Given the description of an element on the screen output the (x, y) to click on. 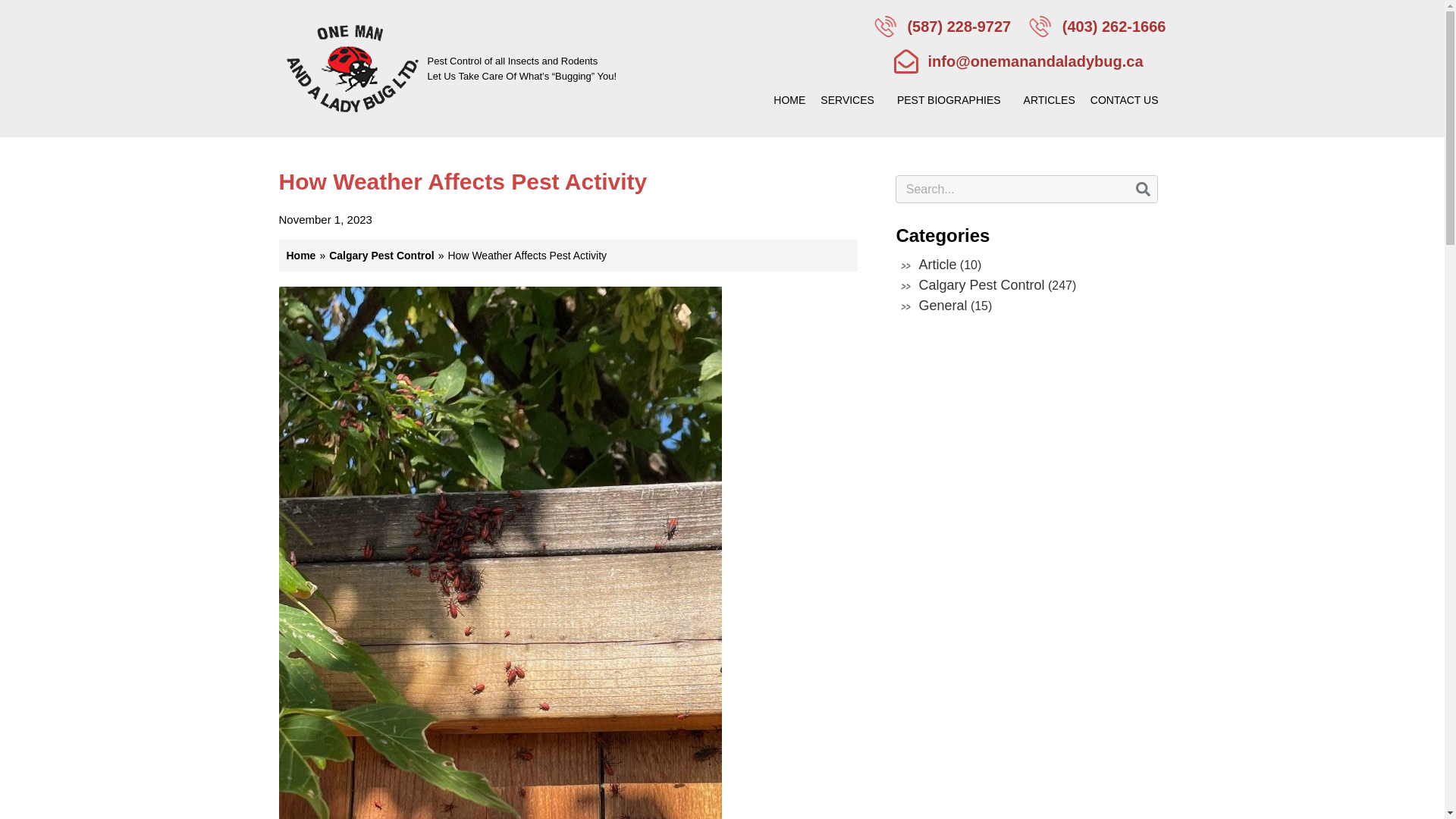
SERVICES (851, 100)
ARTICLES (1049, 100)
CONTACT US (1128, 100)
PEST BIOGRAPHIES (952, 100)
HOME (789, 100)
